Given the description of an element on the screen output the (x, y) to click on. 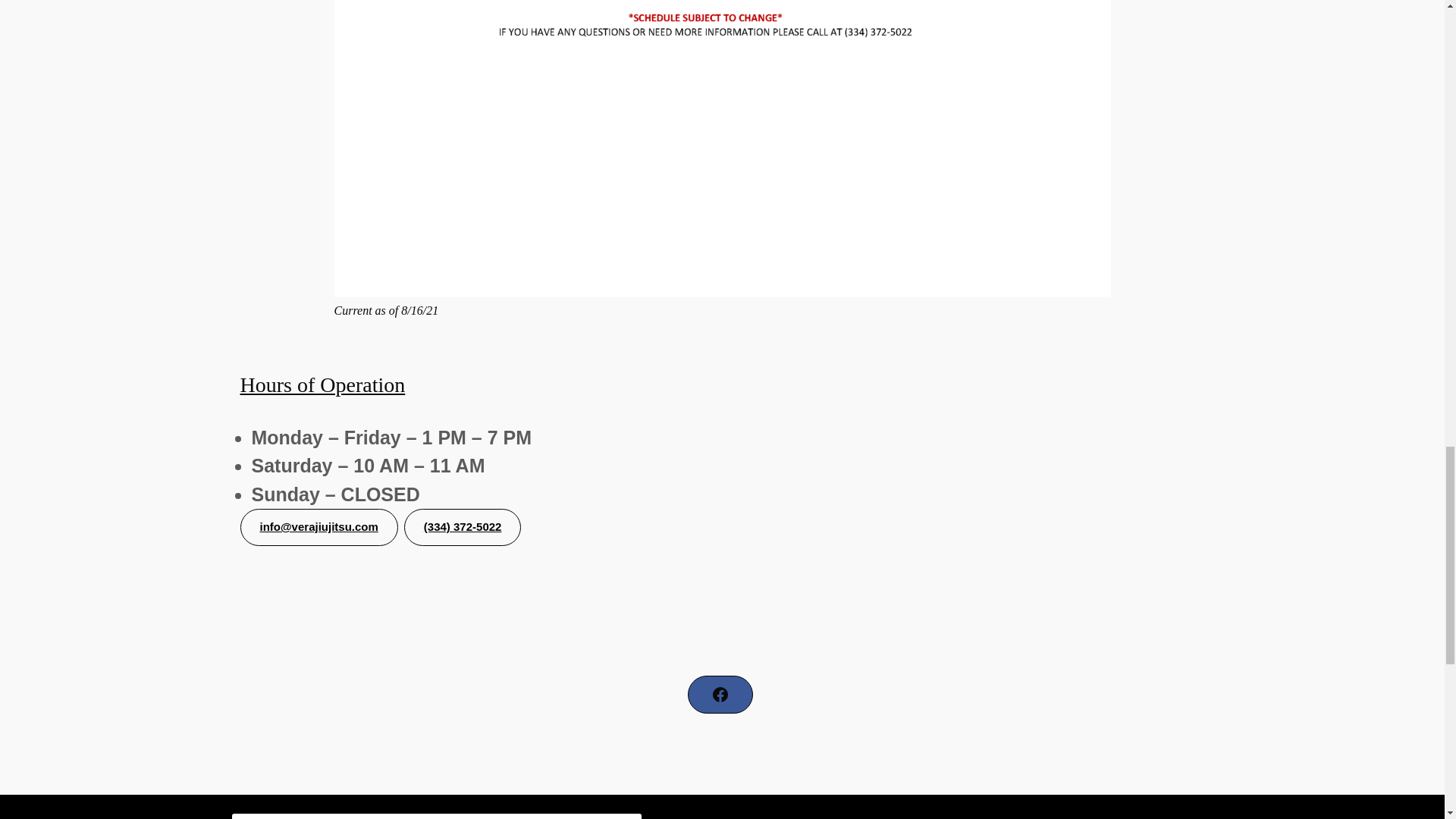
Facebook (719, 694)
Facebook (719, 694)
